Given the description of an element on the screen output the (x, y) to click on. 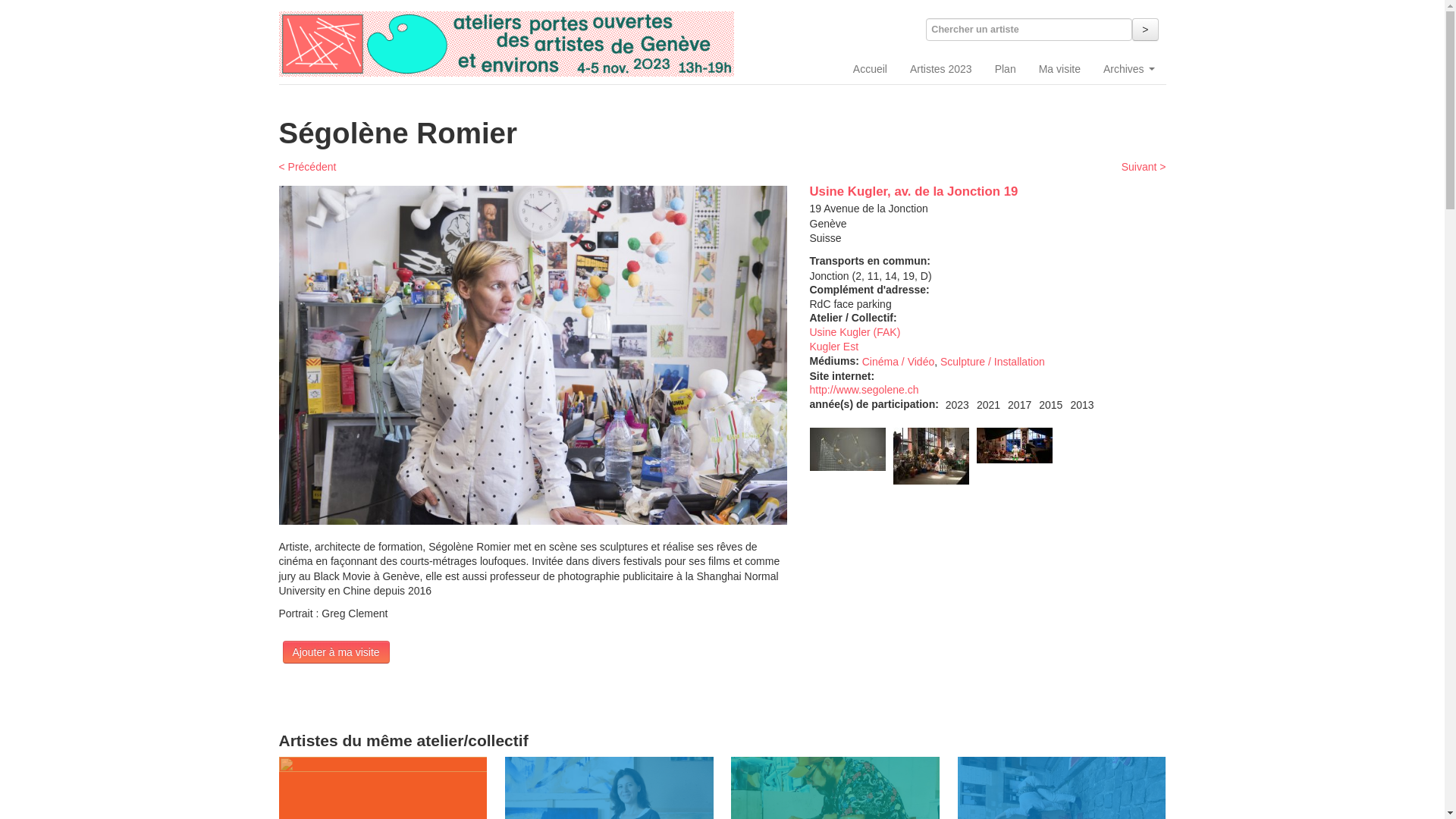
Artistes 2023 Element type: text (940, 68)
Archives Element type: text (1129, 68)
Accueil Element type: text (869, 68)
Kugler Est Element type: text (834, 346)
Sculpture / Installation Element type: text (992, 361)
Plan Element type: text (1005, 68)
> Element type: text (1144, 29)
http://www.segolene.ch Element type: text (864, 389)
Suivant > Element type: text (1143, 166)
Accueil Element type: hover (506, 43)
Ma visite Element type: text (1059, 68)
Usine Kugler (FAK) Element type: text (854, 332)
Aller au contenu principal Element type: text (0, 7)
Usine Kugler, av. de la Jonction 19 Element type: text (913, 190)
